Given the description of an element on the screen output the (x, y) to click on. 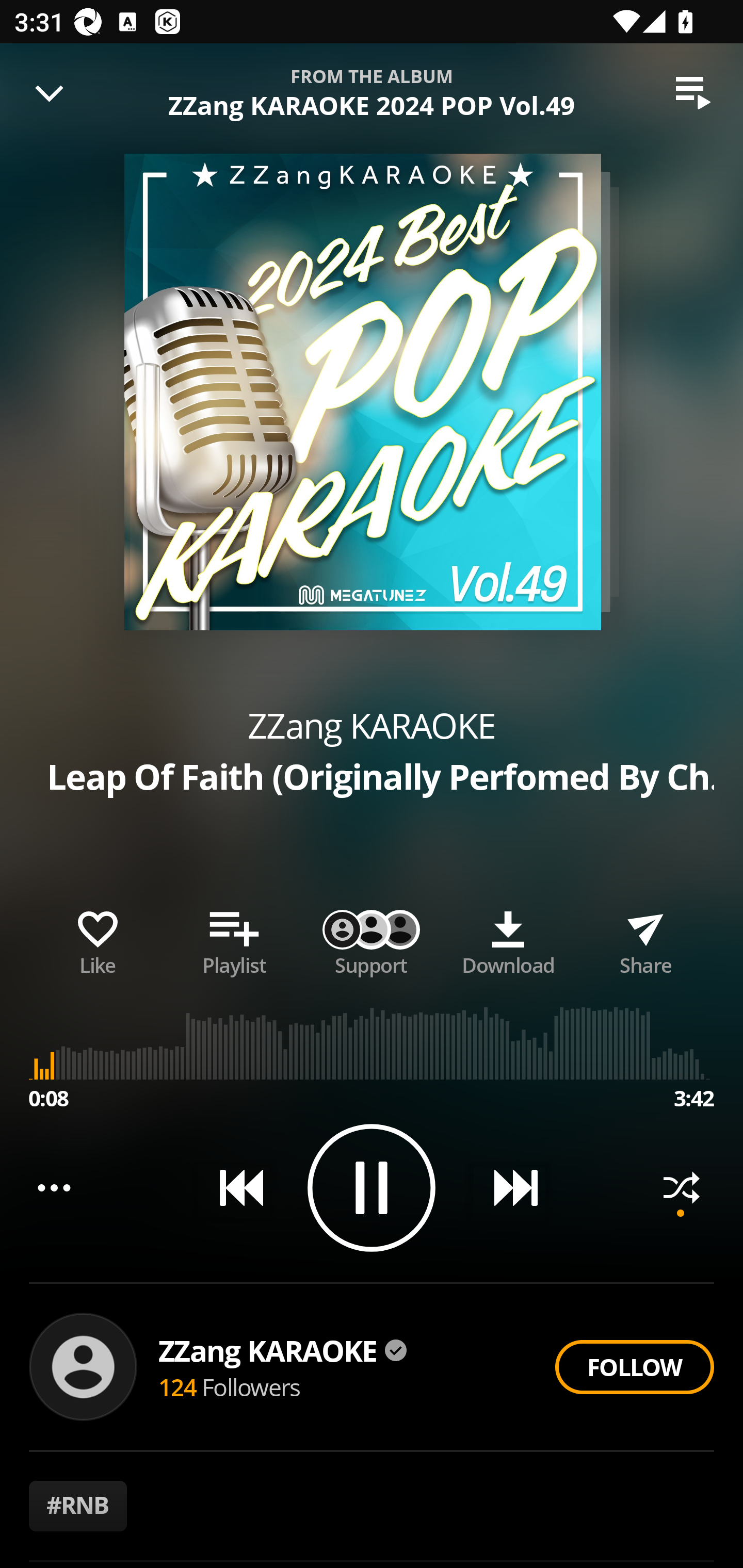
Yesterday Once More Cancel (371, 82)
Minimise player (49, 93)
Queue (693, 93)
Album art (362, 391)
ZZang KARAOKE (371, 724)
Like (97, 939)
Add song to playlist Playlist (234, 939)
Support (371, 939)
Download (507, 939)
Share (645, 939)
Play/Pause (371, 1187)
Previous song (233, 1187)
Next song (508, 1187)
ZZang KARAOKE (282, 1350)
FOLLOW Follow (634, 1366)
124 (177, 1386)
#RNB (77, 1505)
